Given the description of an element on the screen output the (x, y) to click on. 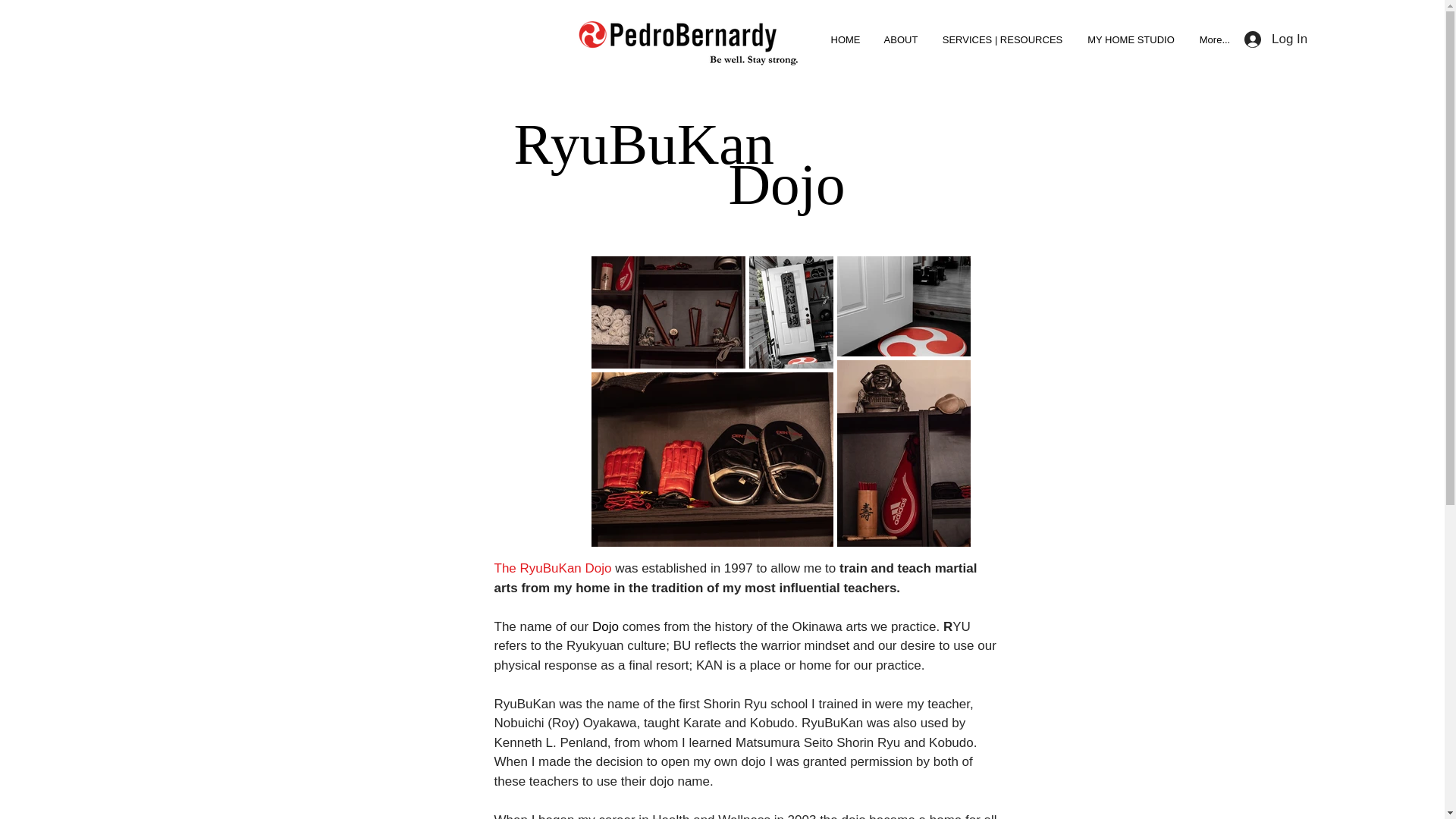
MY HOME STUDIO (1130, 40)
Log In (1275, 39)
HOME (845, 40)
ABOUT (901, 40)
